Given the description of an element on the screen output the (x, y) to click on. 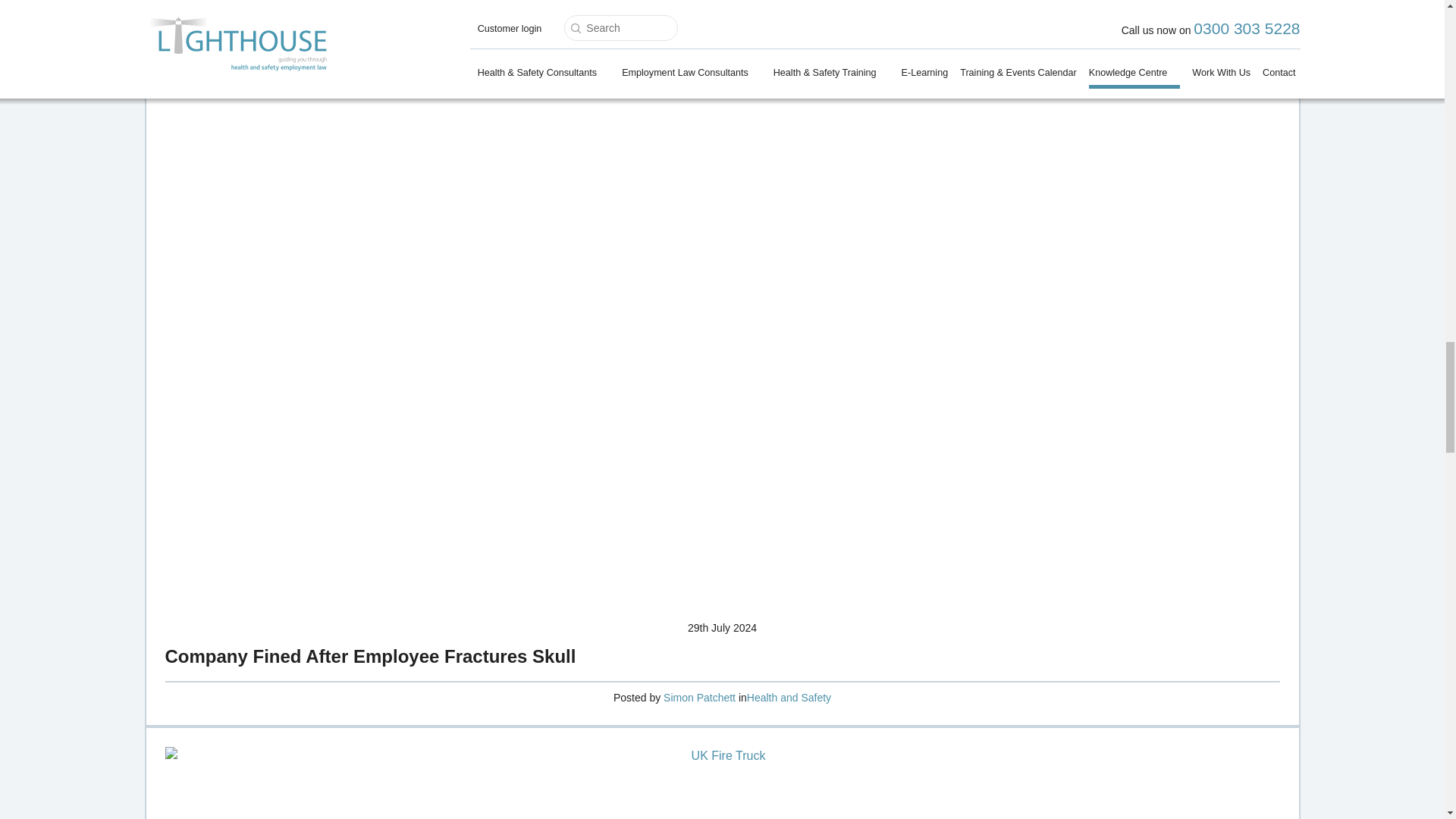
Company Fined After Employee Fractures Skull (370, 656)
Simon Patchett (699, 697)
